Given the description of an element on the screen output the (x, y) to click on. 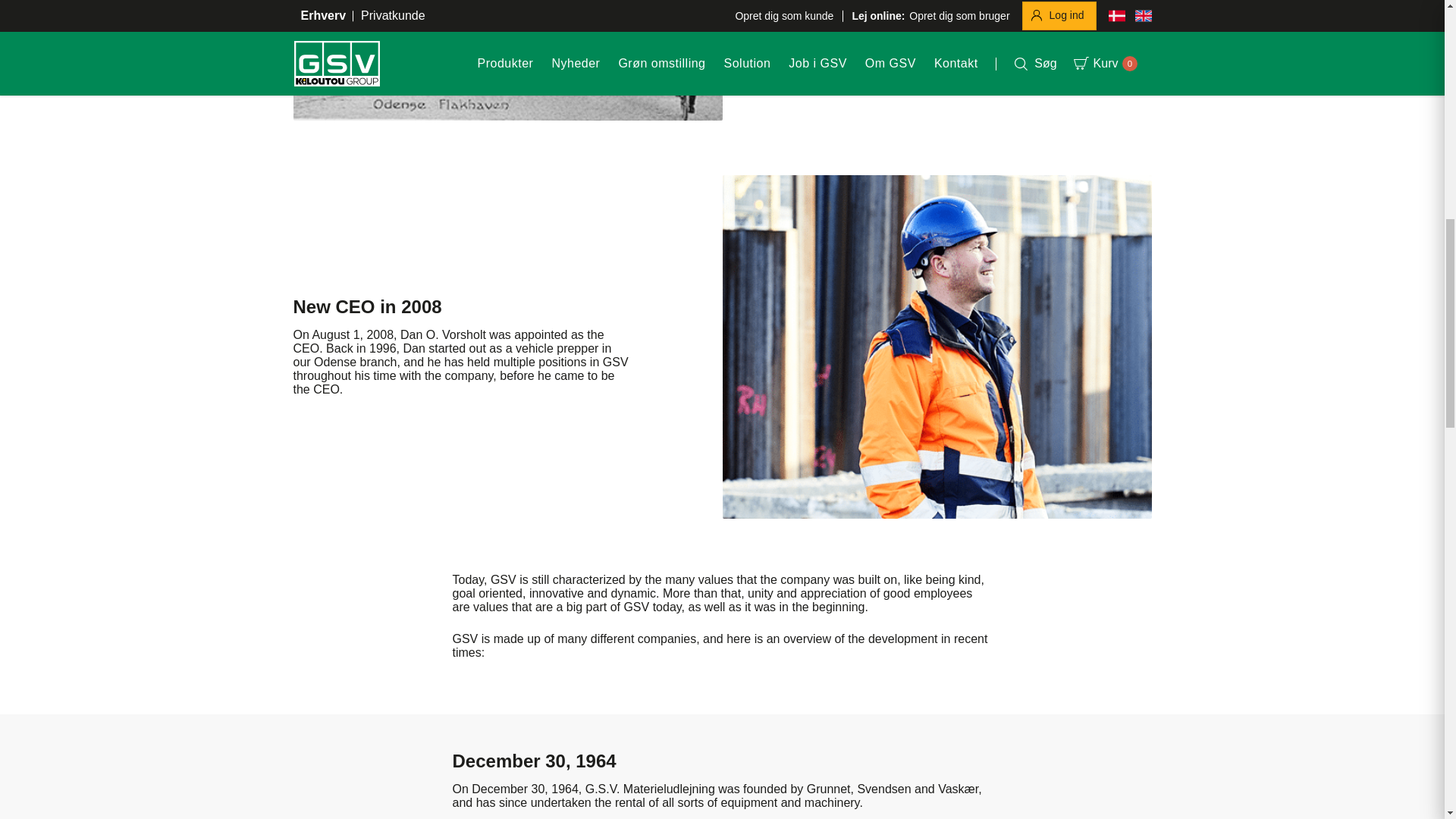
Odense-1912 (507, 60)
